Given the description of an element on the screen output the (x, y) to click on. 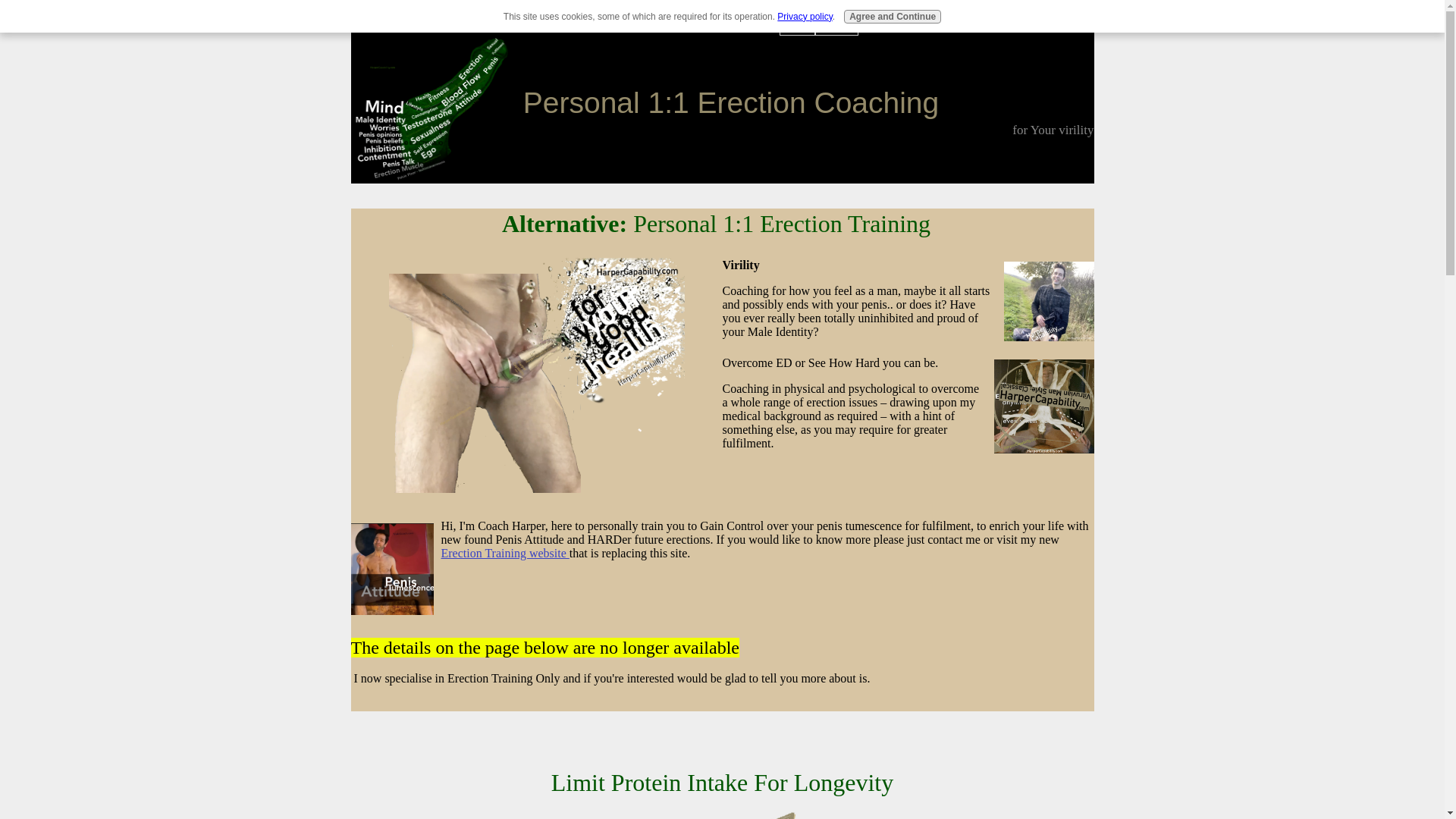
champagne bottle in place of mans erection, fizzing (536, 375)
Agree and Continue (892, 16)
Privacy policy (804, 16)
Erection Training website (505, 553)
Personal 1:1 Erection Coaching (730, 102)
Home (795, 25)
erection is visible under clothes due to transparency (1042, 405)
male coach logo in style of vitruvian man  (721, 814)
Contact (837, 25)
